Given the description of an element on the screen output the (x, y) to click on. 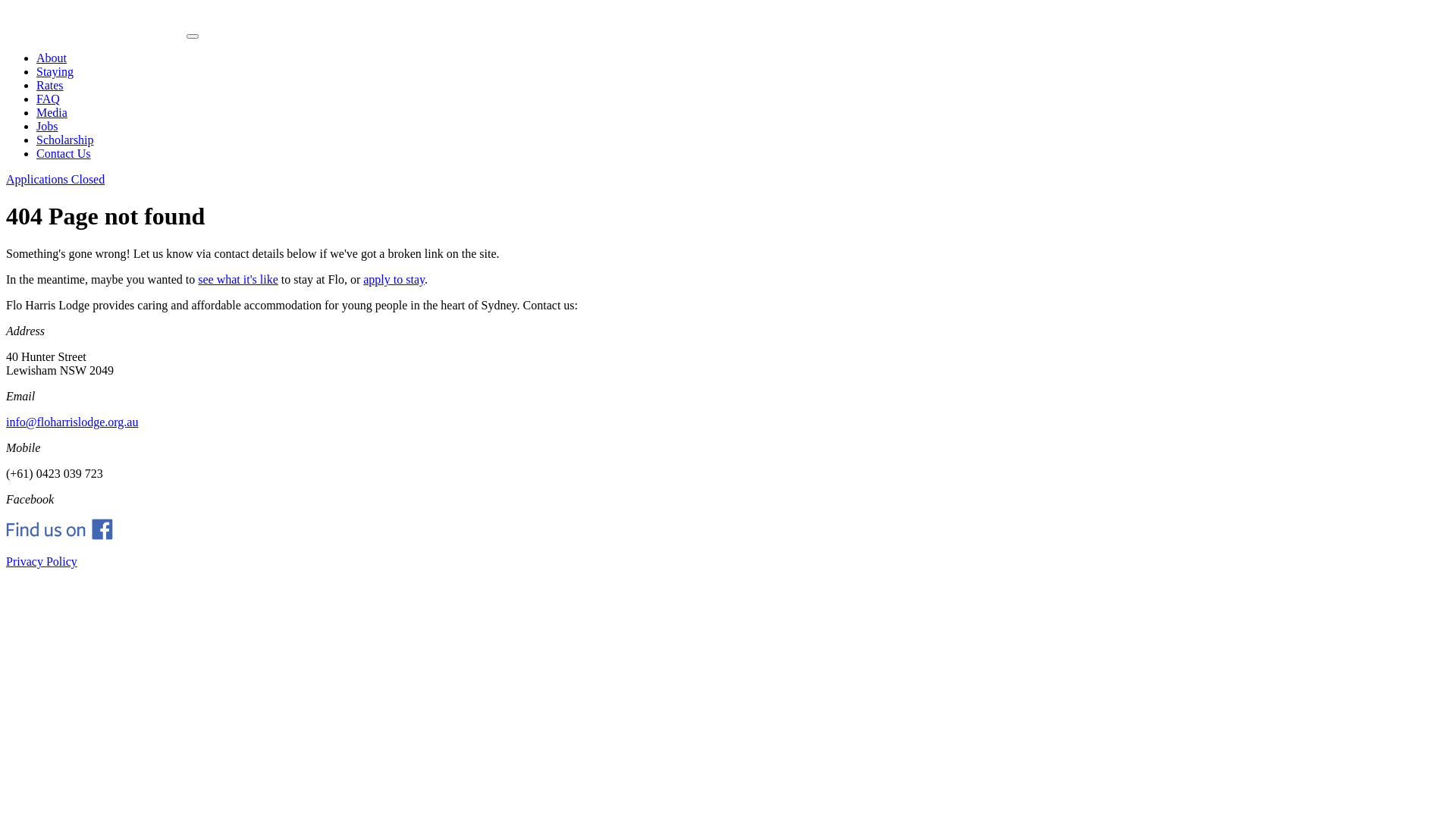
Staying Element type: text (54, 71)
Contact Us Element type: text (63, 153)
FAQ Element type: text (47, 98)
Privacy Policy Element type: text (41, 561)
Media Element type: text (51, 112)
info@floharrislodge.org.au Element type: text (72, 421)
Scholarship Element type: text (65, 139)
see what it's like Element type: text (237, 279)
Jobs Element type: text (46, 125)
Rates Element type: text (49, 84)
About Element type: text (51, 57)
apply to stay Element type: text (393, 279)
Applications Closed Element type: text (55, 178)
